Given the description of an element on the screen output the (x, y) to click on. 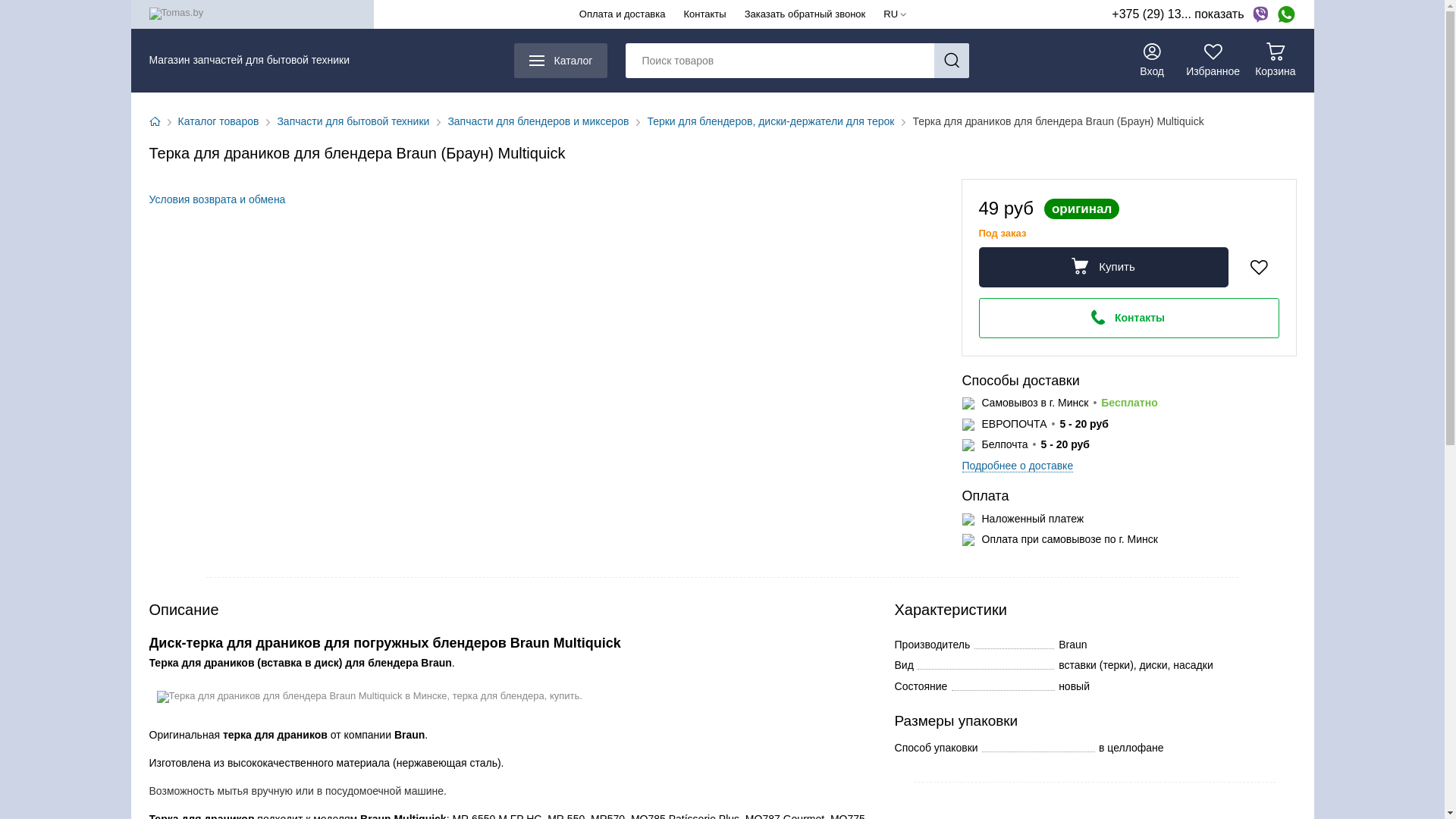
RU Element type: text (894, 14)
Viber Element type: hover (1260, 14)
WhatsApp Element type: hover (1286, 14)
